Given the description of an element on the screen output the (x, y) to click on. 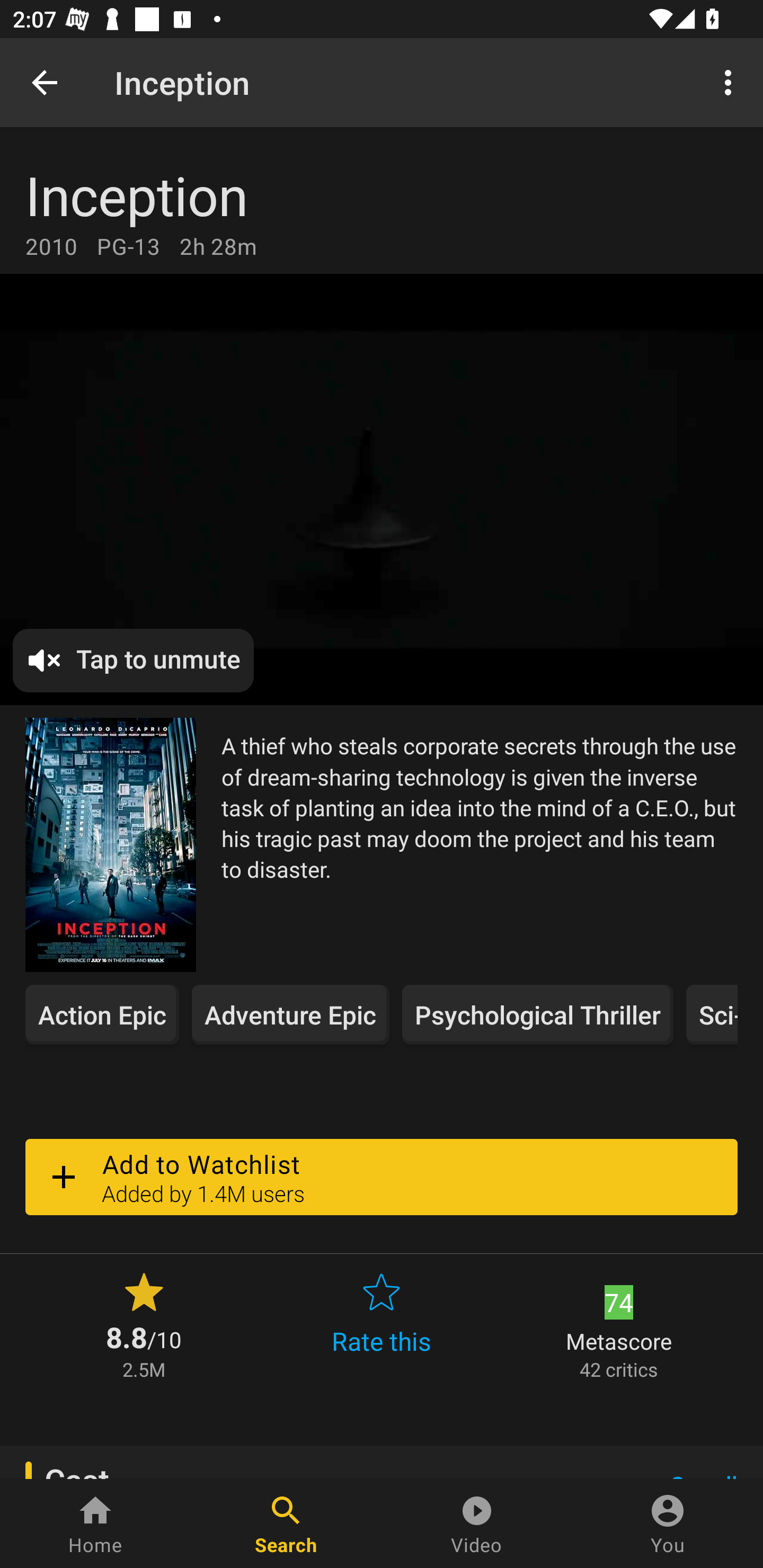
More options (731, 81)
Tap to unmute (381, 489)
Tap to unmute (133, 660)
Action Epic (102, 1014)
Adventure Epic (290, 1014)
Psychological Thriller (537, 1014)
Add to Watchlist Added by 1.4M users (381, 1176)
8.8 /10 2.5M (143, 1323)
Rate this (381, 1323)
74 Metascore 42 critics (618, 1323)
Home (95, 1523)
Video (476, 1523)
You (667, 1523)
